Given the description of an element on the screen output the (x, y) to click on. 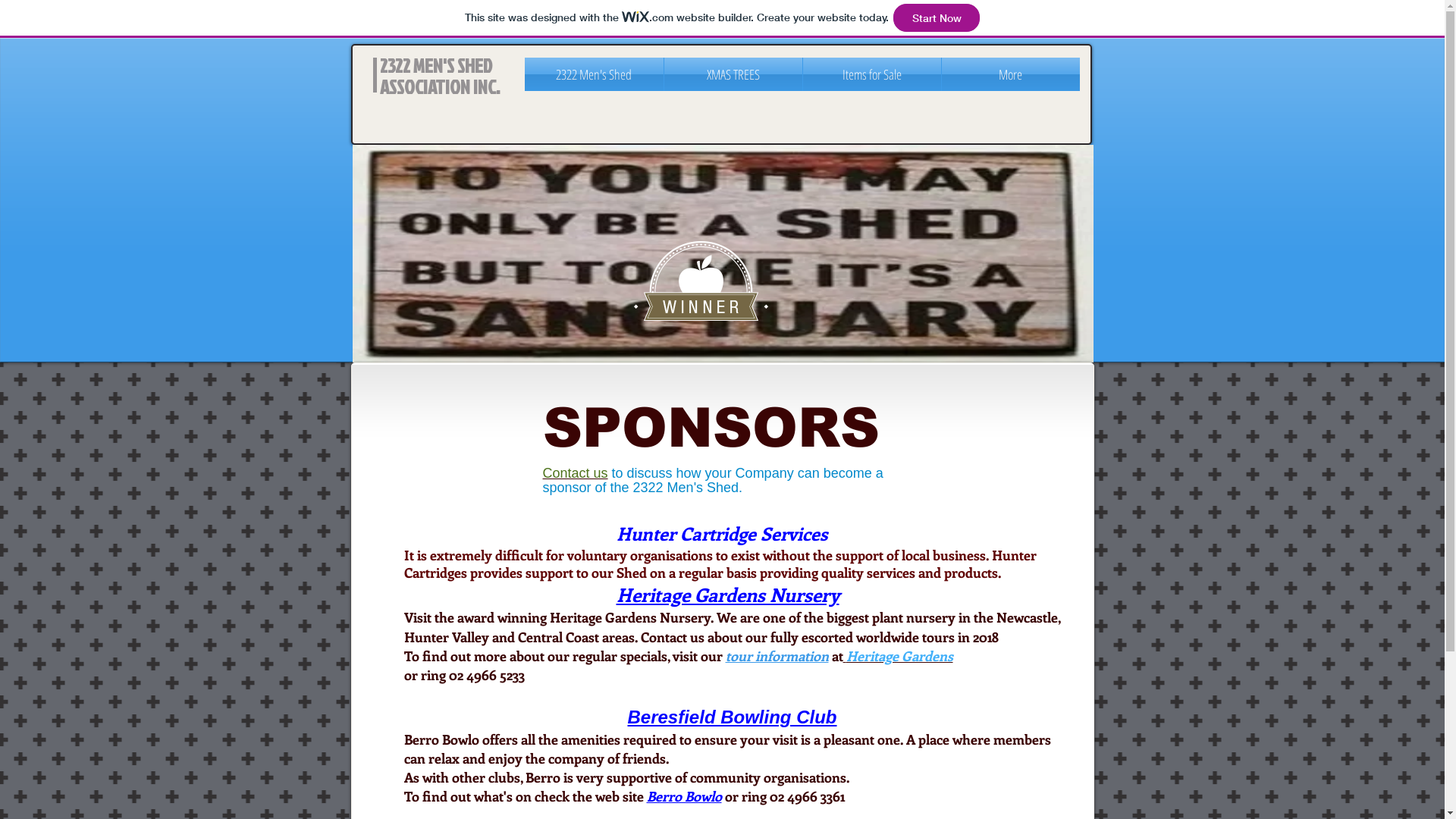
tour information Element type: text (776, 655)
2322 Men's Shed Element type: text (593, 74)
XMAS TREES Element type: text (733, 74)
Hunter Cartridge Services Element type: text (720, 532)
Berro Bowlo Element type: text (683, 796)
Contact us Element type: text (575, 472)
Items for Sale Element type: text (871, 74)
 Heritage Gardens Element type: text (898, 655)
Beresfield Bowling Club Element type: text (731, 715)
Heritage Gardens Nursery Element type: text (726, 594)
